Given the description of an element on the screen output the (x, y) to click on. 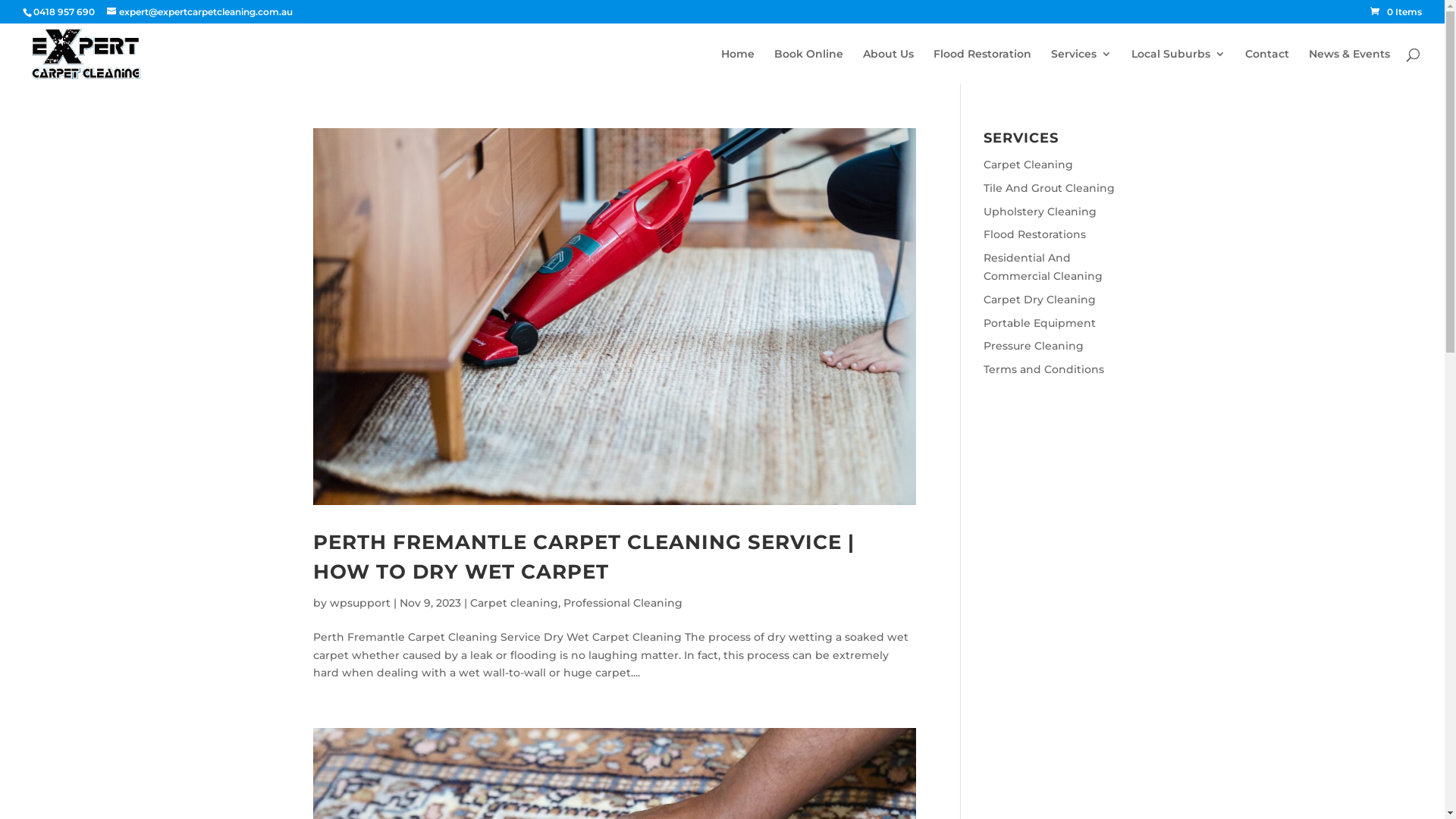
Home Element type: text (737, 66)
Terms and Conditions Element type: text (1043, 369)
Residential And Commercial Cleaning Element type: text (1042, 266)
Services Element type: text (1081, 66)
Carpet Cleaning Element type: text (1028, 164)
Professional Cleaning Element type: text (621, 602)
Upholstery Cleaning Element type: text (1039, 211)
expert@expertcarpetcleaning.com.au Element type: text (199, 11)
Tile And Grout Cleaning Element type: text (1048, 187)
About Us Element type: text (887, 66)
Portable Equipment Element type: text (1039, 322)
Flood Restoration Element type: text (982, 66)
News & Events Element type: text (1349, 66)
Book Online Element type: text (808, 66)
Flood Restorations Element type: text (1034, 234)
Local Suburbs Element type: text (1178, 66)
wpsupport Element type: text (359, 602)
0418 957 690 Element type: text (63, 11)
Carpet Dry Cleaning Element type: text (1039, 299)
Carpet cleaning Element type: text (514, 602)
0 Items Element type: text (1395, 11)
Contact Element type: text (1267, 66)
Pressure Cleaning Element type: text (1033, 345)
